Given the description of an element on the screen output the (x, y) to click on. 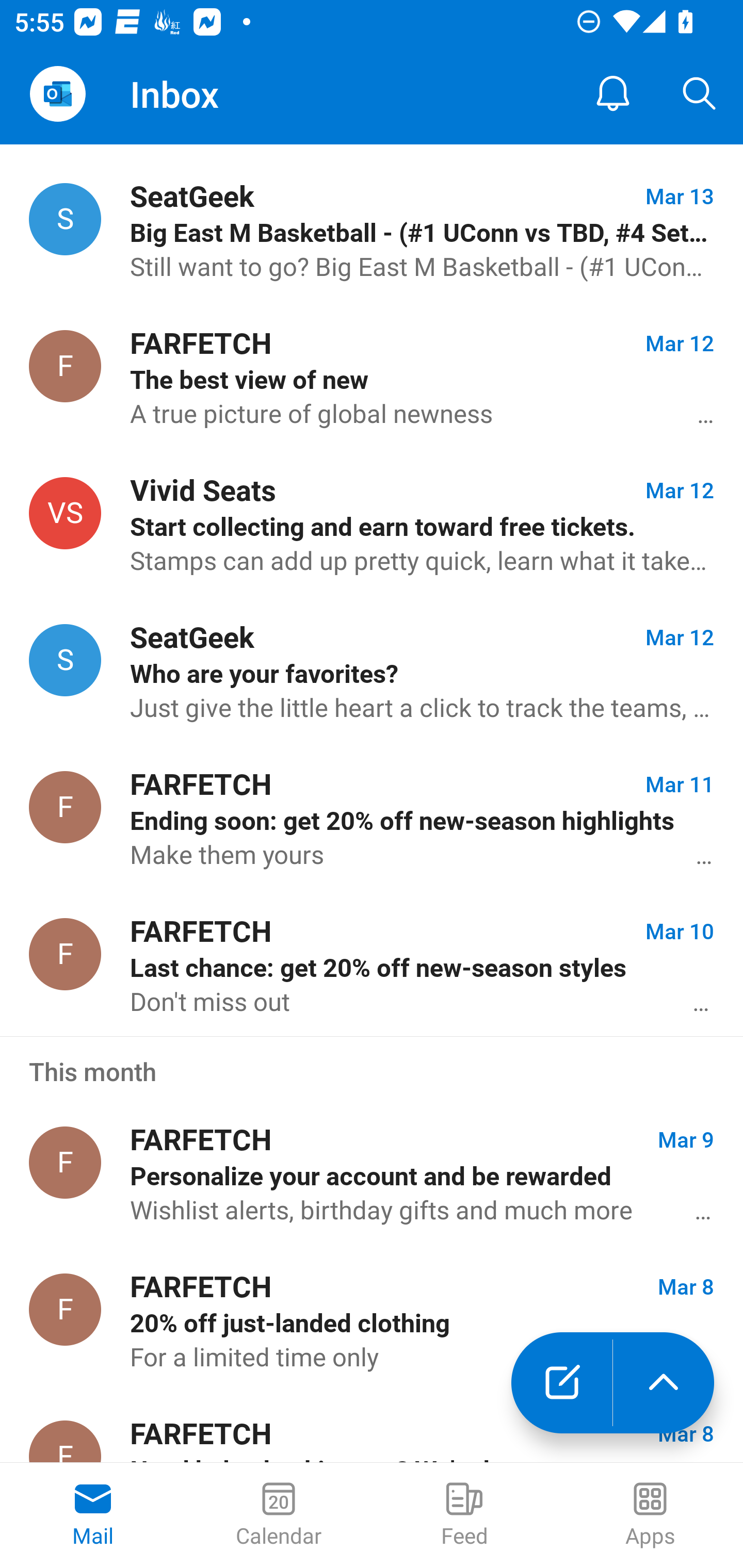
Notification Center (612, 93)
Search, ,  (699, 93)
Open Navigation Drawer (57, 94)
SeatGeek, events@seatgeek.com (64, 219)
FARFETCH, farfetch@email.farfetch.com (64, 366)
Vivid Seats, tickets@live.vividseats.com (64, 512)
SeatGeek, events@seatgeek.com (64, 660)
FARFETCH, farfetch@email.farfetch.com (64, 807)
FARFETCH, farfetch@email.farfetch.com (64, 954)
FARFETCH, farfetch@email.farfetch.com (64, 1161)
FARFETCH, farfetch@email.farfetch.com (64, 1309)
New mail (561, 1382)
launch the extended action menu (663, 1382)
Calendar (278, 1515)
Feed (464, 1515)
Apps (650, 1515)
